Given the description of an element on the screen output the (x, y) to click on. 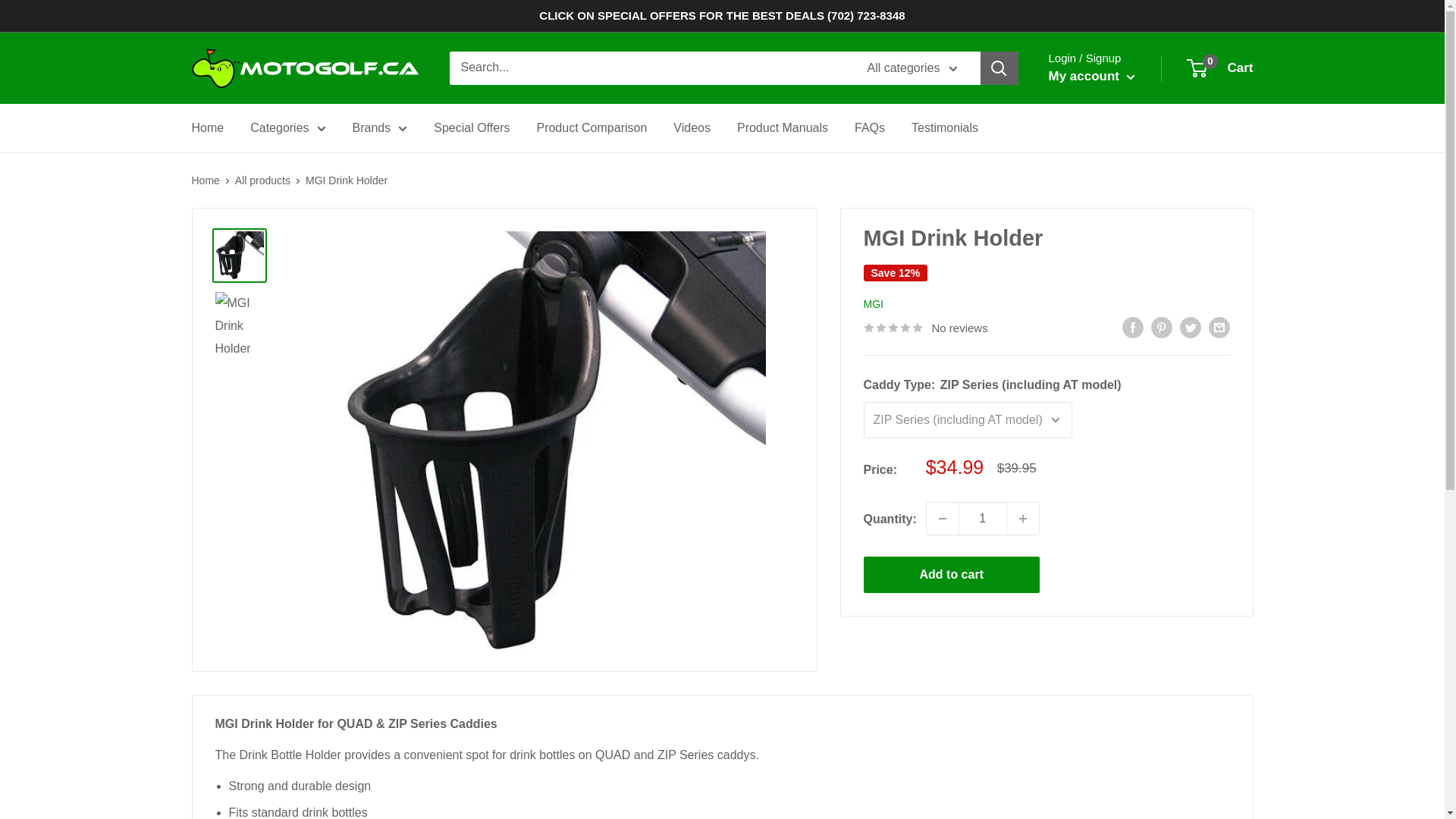
Increase quantity by 1 (1023, 518)
Decrease quantity by 1 (942, 518)
1 (982, 518)
